Given the description of an element on the screen output the (x, y) to click on. 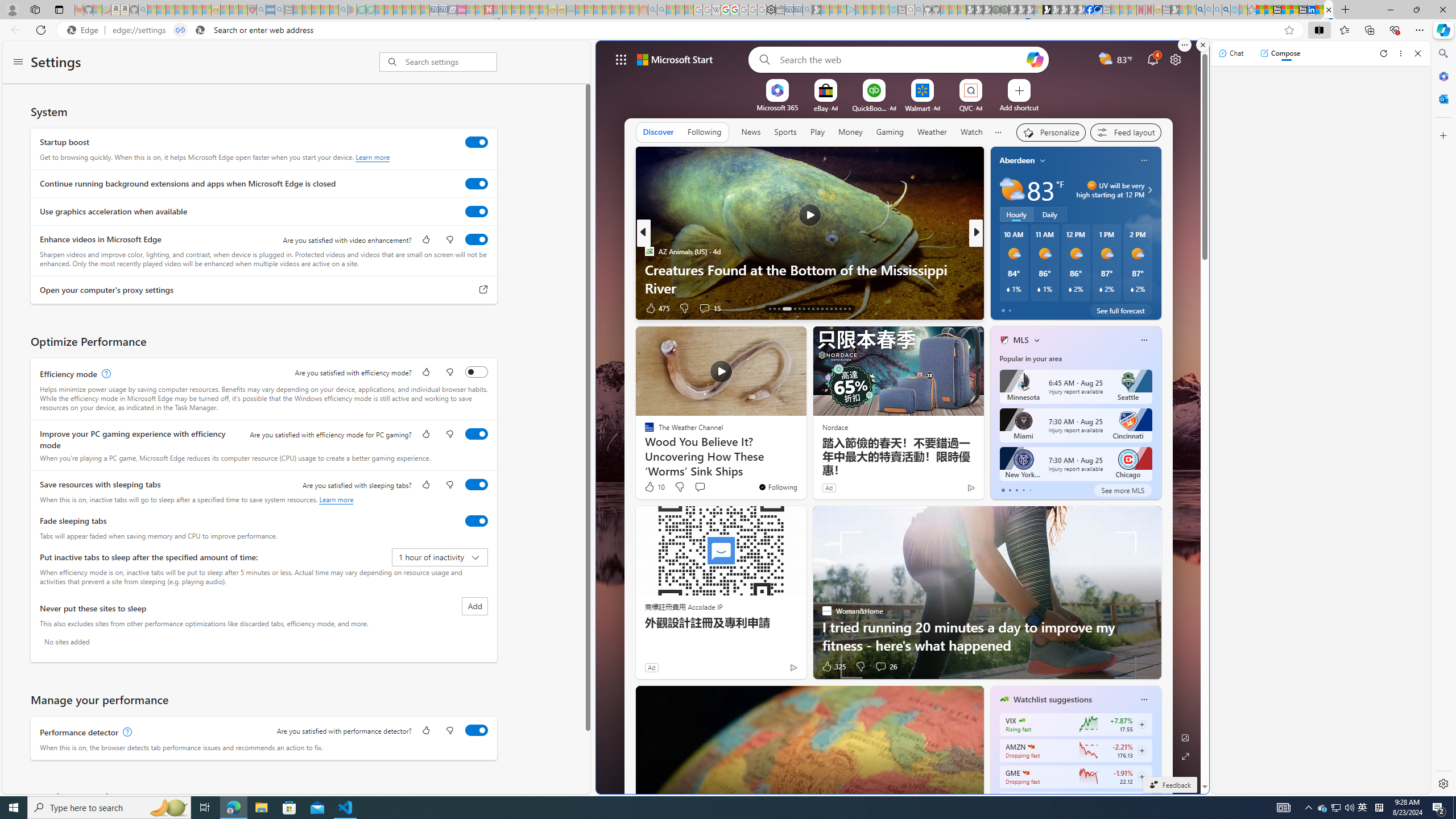
previous (996, 233)
Edit Background (1185, 737)
tab-1 (1009, 489)
MSN - Sleeping (1174, 9)
App launcher (620, 59)
Class: weather-arrow-glyph (1149, 189)
Efficiency mode, learn more (104, 374)
Geography Facts Most People Get Wrong (1159, 287)
Watchlist suggestions (1052, 699)
